Given the description of an element on the screen output the (x, y) to click on. 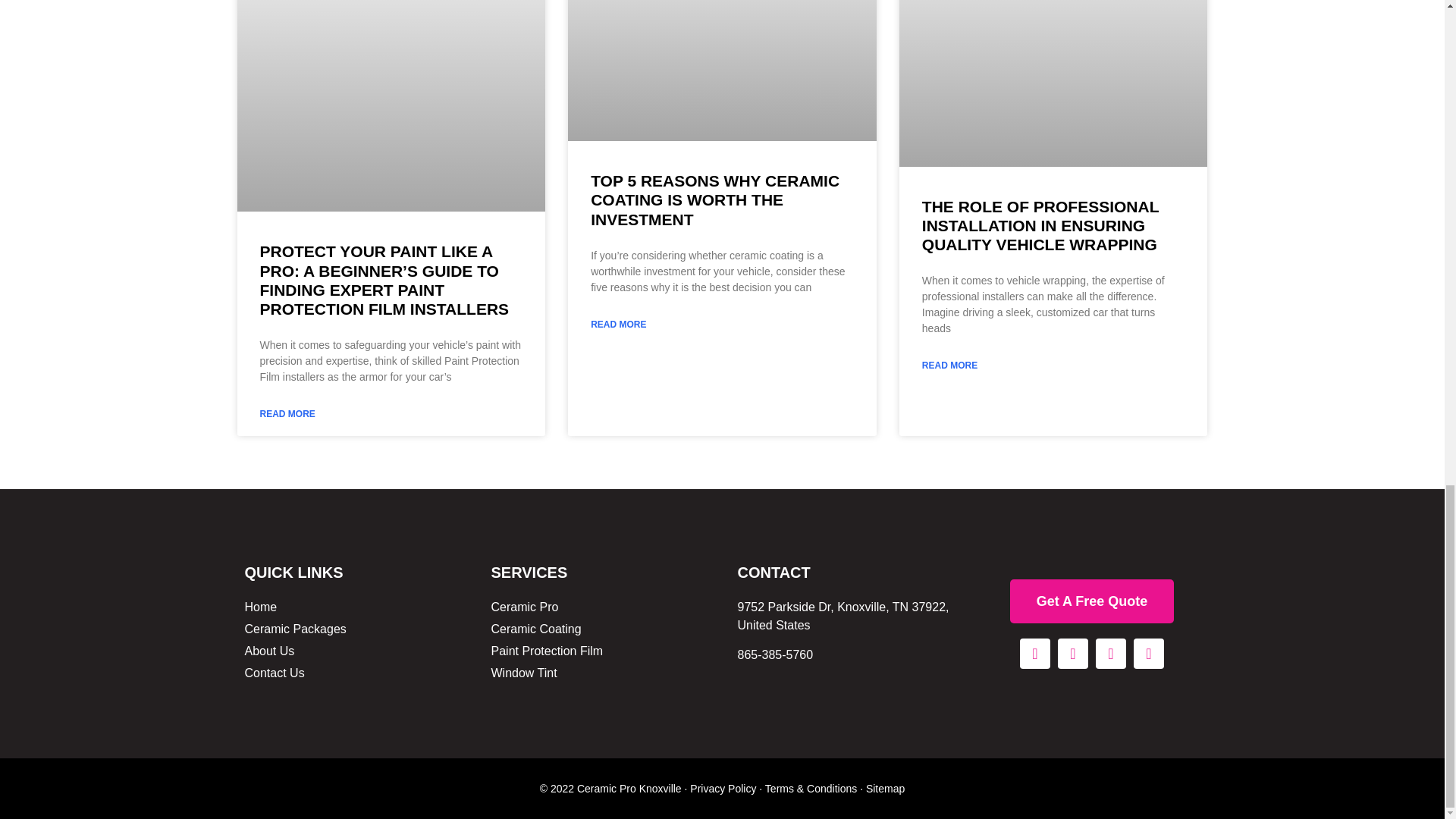
READ MORE (286, 413)
